Given the description of an element on the screen output the (x, y) to click on. 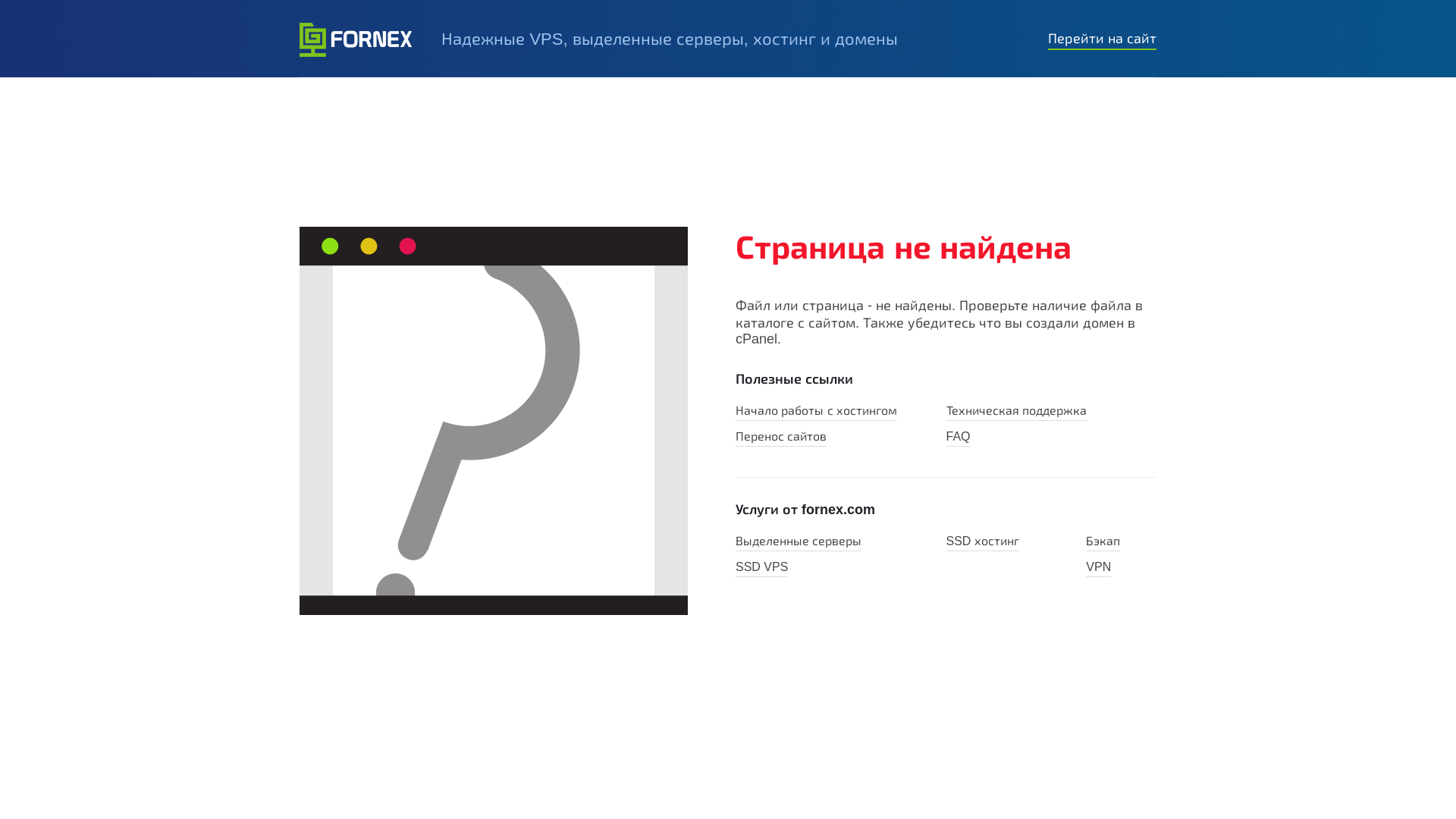
VPN Element type: text (1097, 568)
SSD VPS Element type: text (761, 568)
FAQ Element type: text (958, 437)
